Given the description of an element on the screen output the (x, y) to click on. 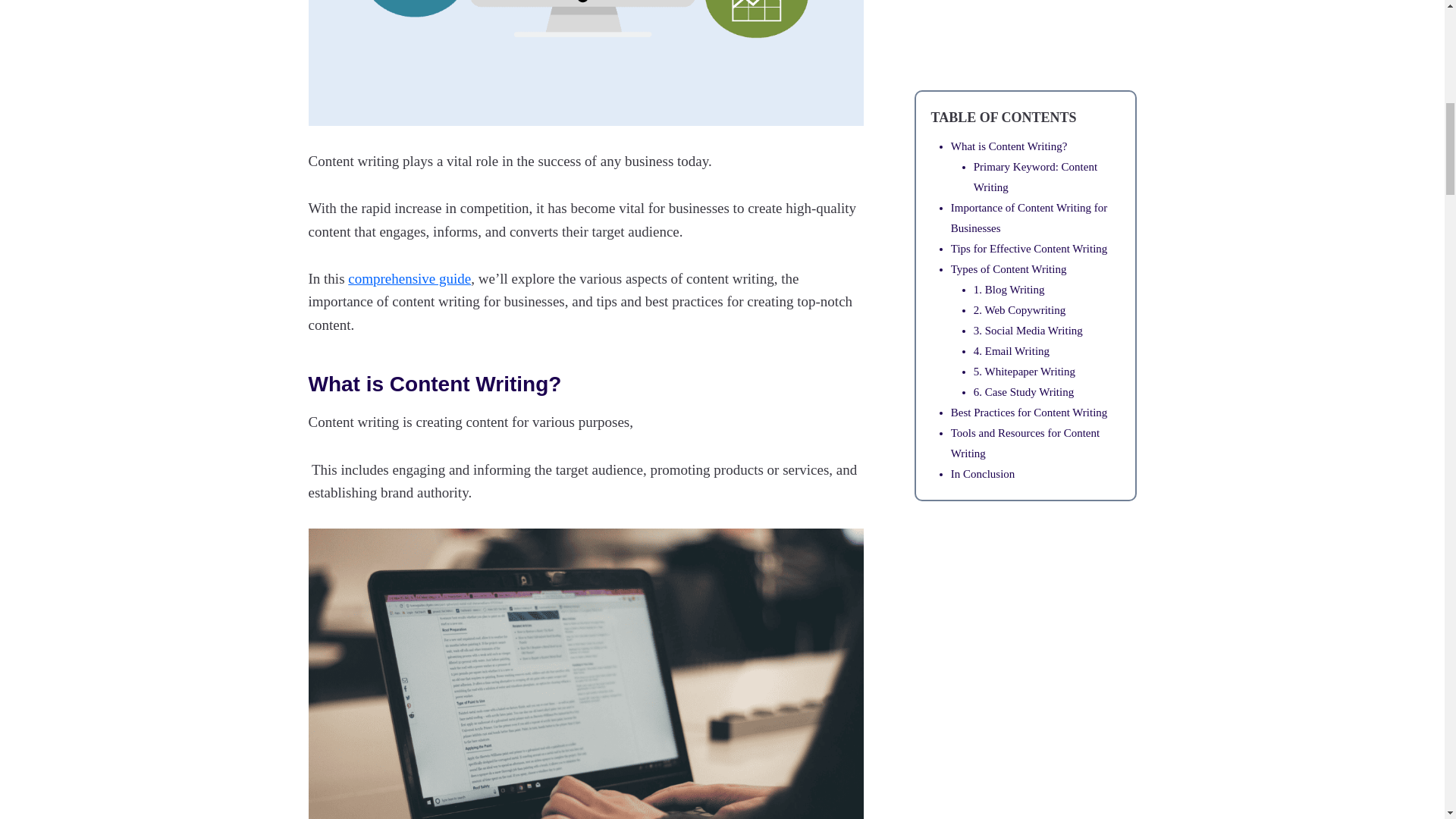
comprehensive guide (408, 278)
Content Writing: The Ultimate Guide to Boost Your Business 2 (585, 63)
